Given the description of an element on the screen output the (x, y) to click on. 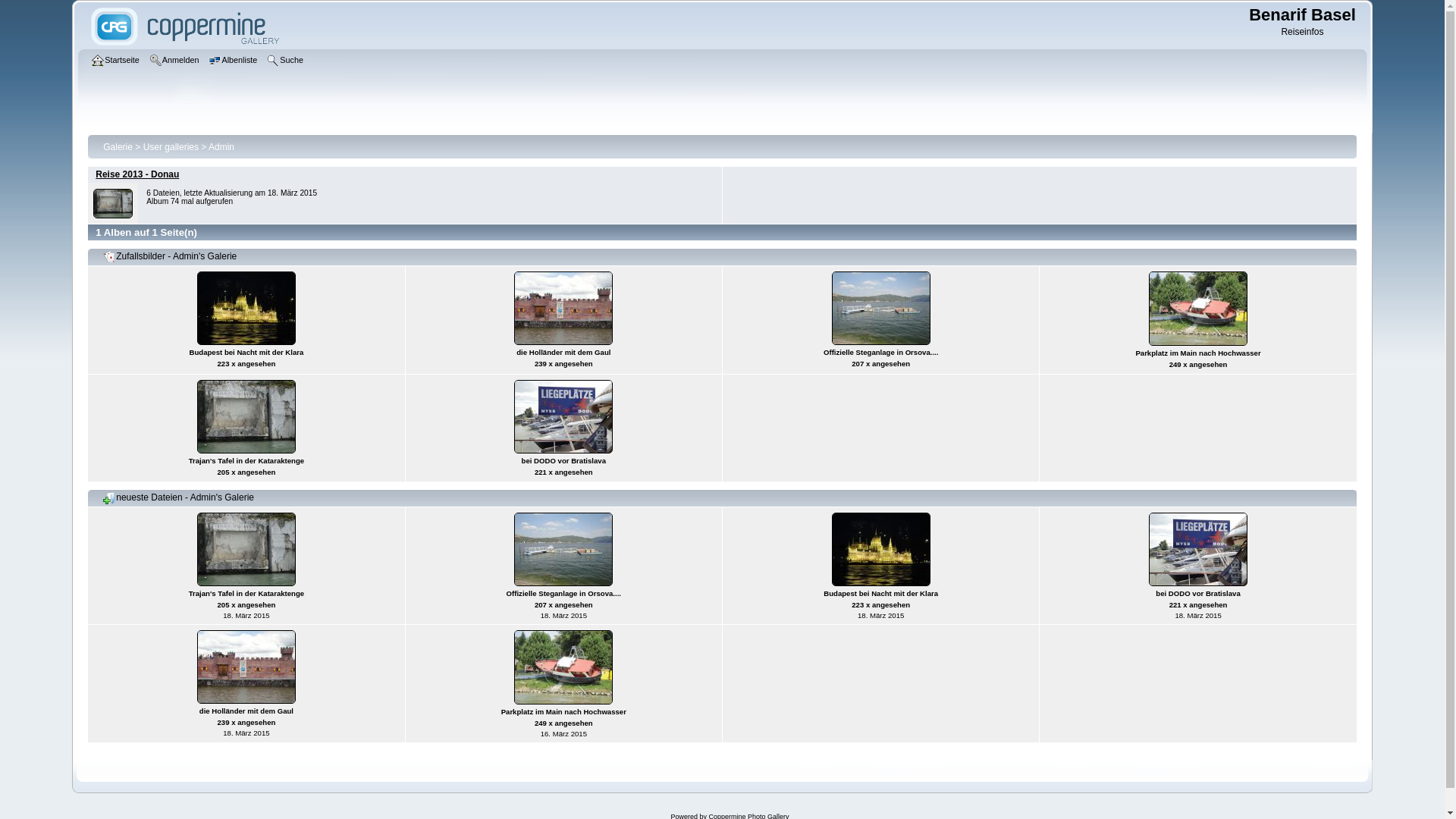
Reise 2013 - Donau Element type: text (136, 174)
Albenliste Element type: text (234, 61)
Admin Element type: text (221, 146)
Startseite Element type: text (117, 61)
Anmelden Element type: text (176, 61)
Suche Element type: text (286, 61)
Galerie Element type: text (117, 146)
User galleries Element type: text (170, 146)
